Given the description of an element on the screen output the (x, y) to click on. 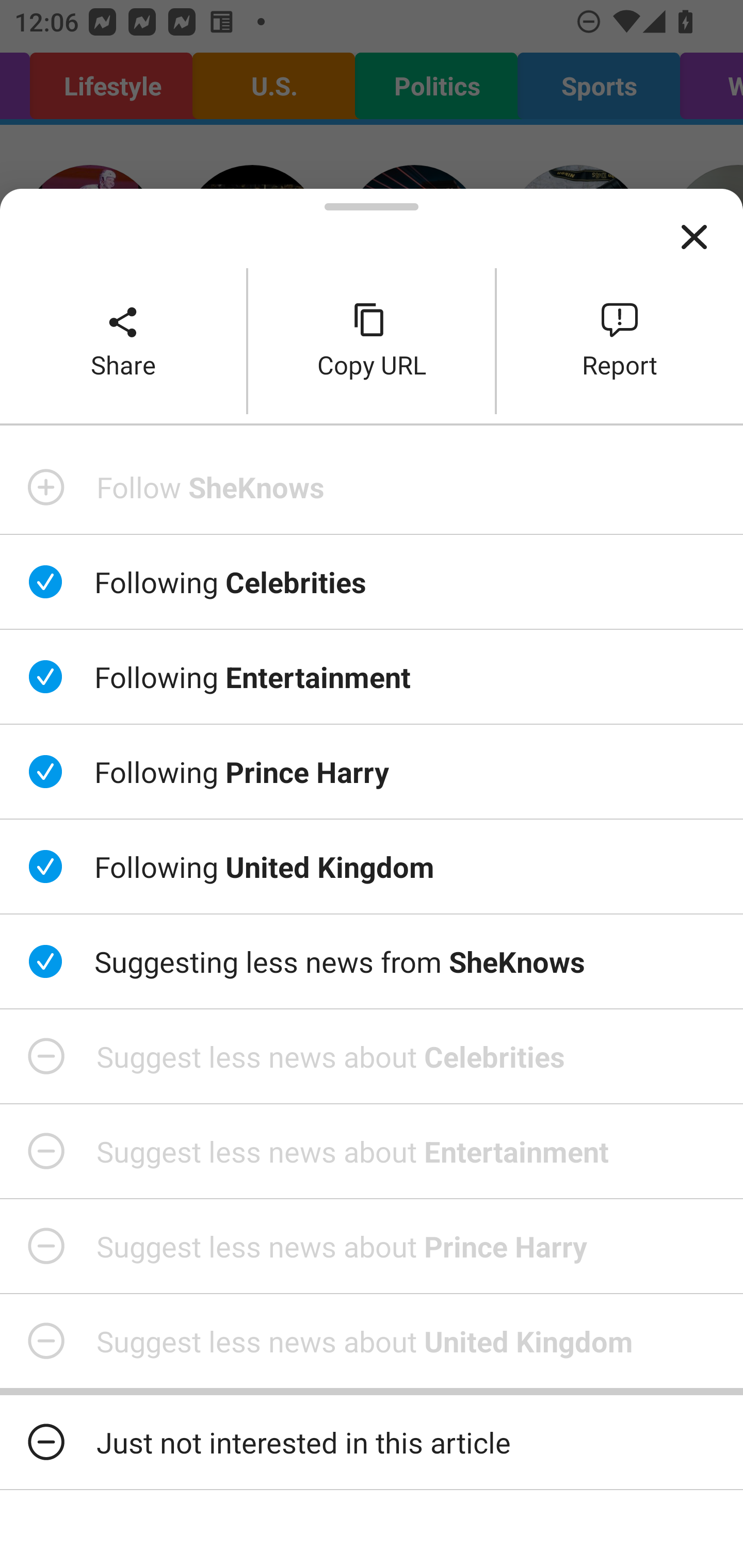
Close (694, 237)
Share (122, 340)
Copy URL (371, 340)
Report (620, 340)
Follow SheKnows (371, 486)
Following Celebrities (371, 581)
Following Entertainment (371, 677)
Following Prince Harry (371, 771)
Following United Kingdom (371, 867)
Suggesting less news from SheKnows (371, 961)
Suggest less news about United Kingdom (371, 1340)
Just not interested in this article (371, 1442)
